Given the description of an element on the screen output the (x, y) to click on. 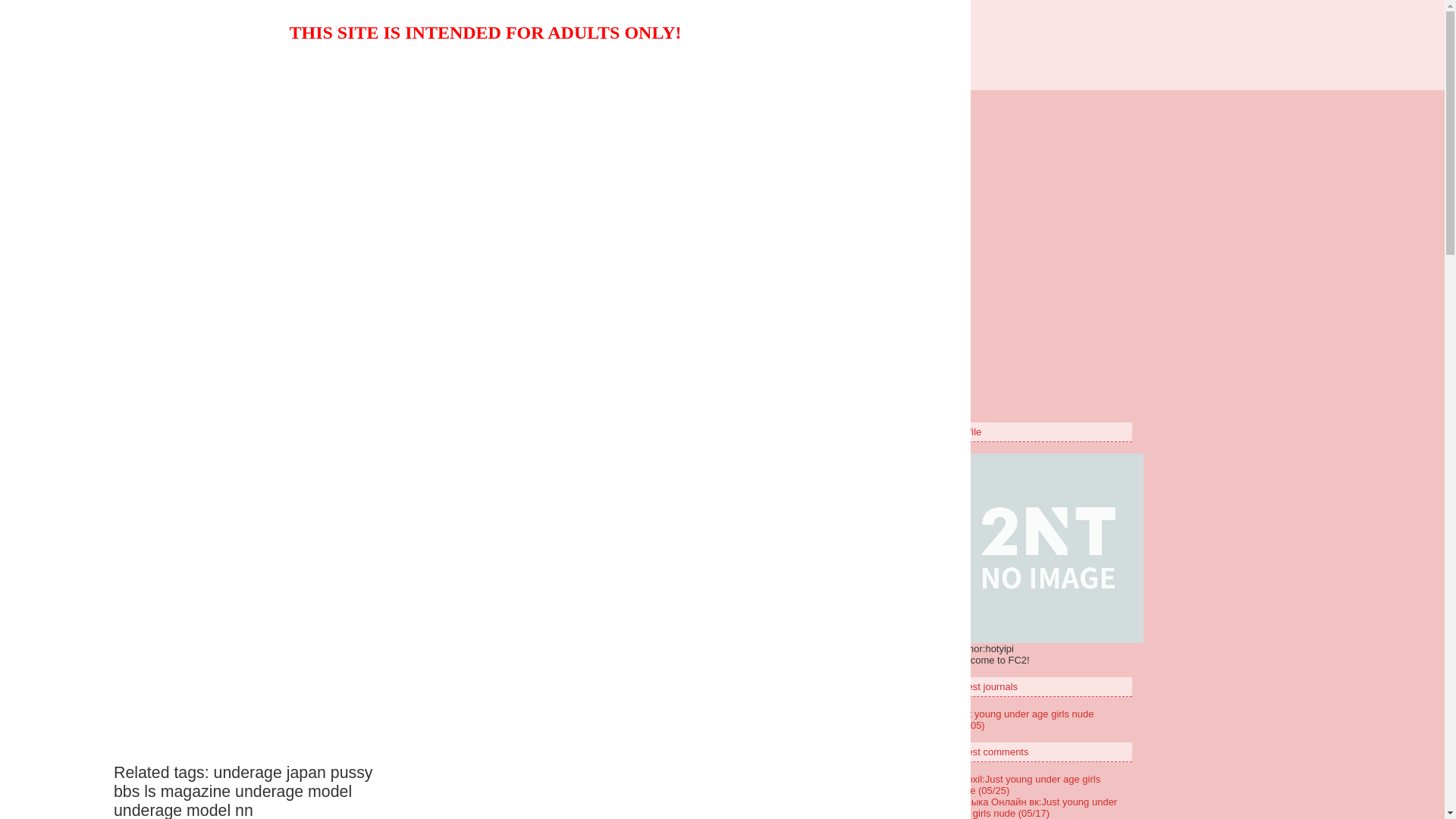
Comments : 12 Element type: text (752, 194)
Pagetop Element type: text (851, 234)
Just young under age girls nude Element type: text (438, 146)
Trackbacks : 0 Element type: text (837, 194)
HOME Element type: text (613, 268)
Under age boys 10 13 nude movies Element type: text (721, 38)
Pagetop Element type: text (874, 329)
Category: None Element type: text (665, 194)
amoxil:Just young under age girls nude (05/25) Element type: text (1027, 784)
Just young under age girls nude (02/05) Element type: text (1023, 719)
